Given the description of an element on the screen output the (x, y) to click on. 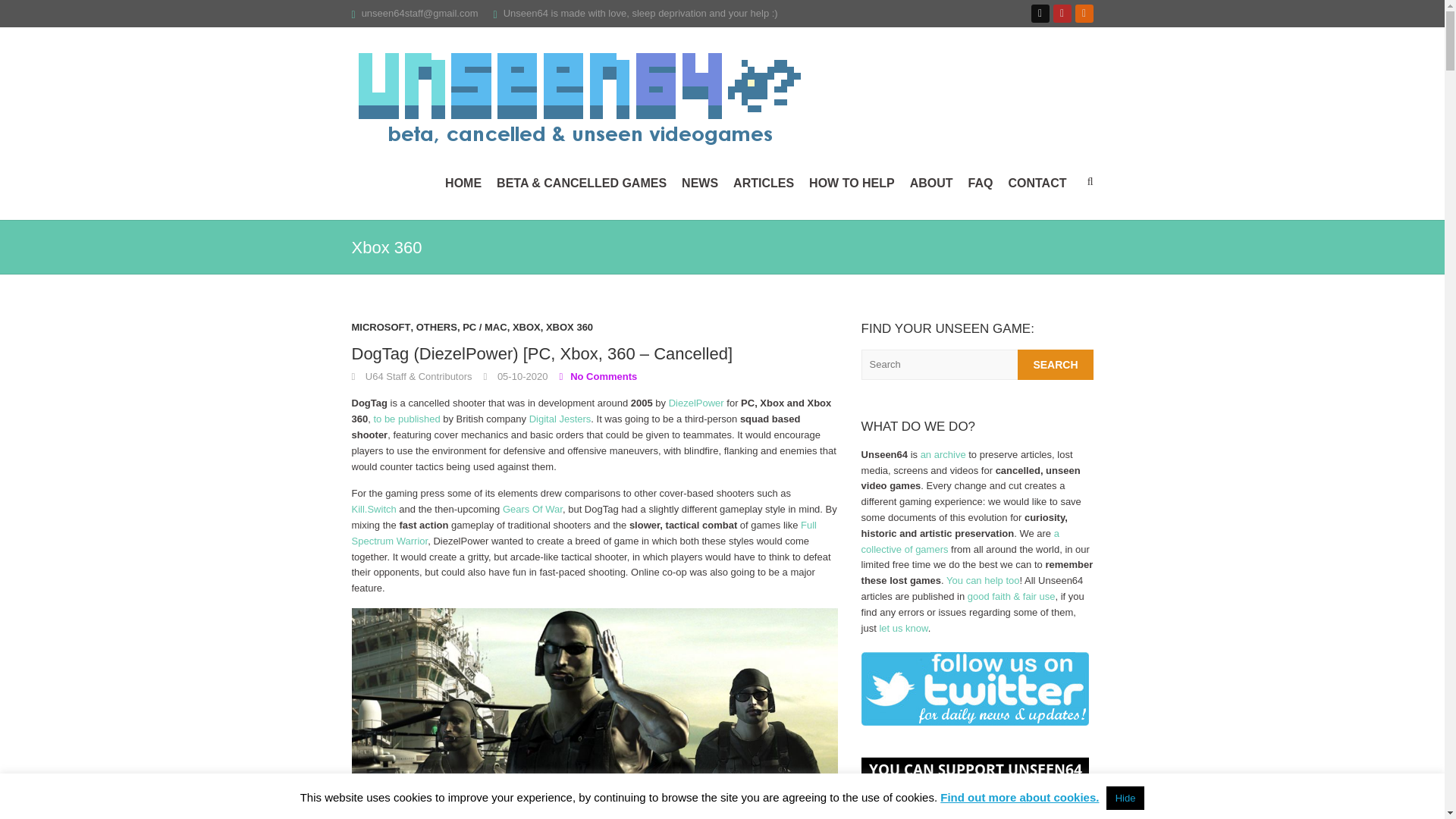
Kill.Switch (374, 509)
 Mail Us  (420, 12)
XBOX 360 (569, 331)
Search (1055, 364)
HOW TO HELP (852, 183)
Full Spectrum Warrior (584, 533)
OTHERS (436, 331)
Gears Of War (532, 509)
XBOX (526, 331)
20:22 (515, 376)
CONTACT (1036, 183)
Search (1055, 364)
DiezelPower (695, 402)
MICROSOFT (381, 331)
Digital Jesters (560, 419)
